Given the description of an element on the screen output the (x, y) to click on. 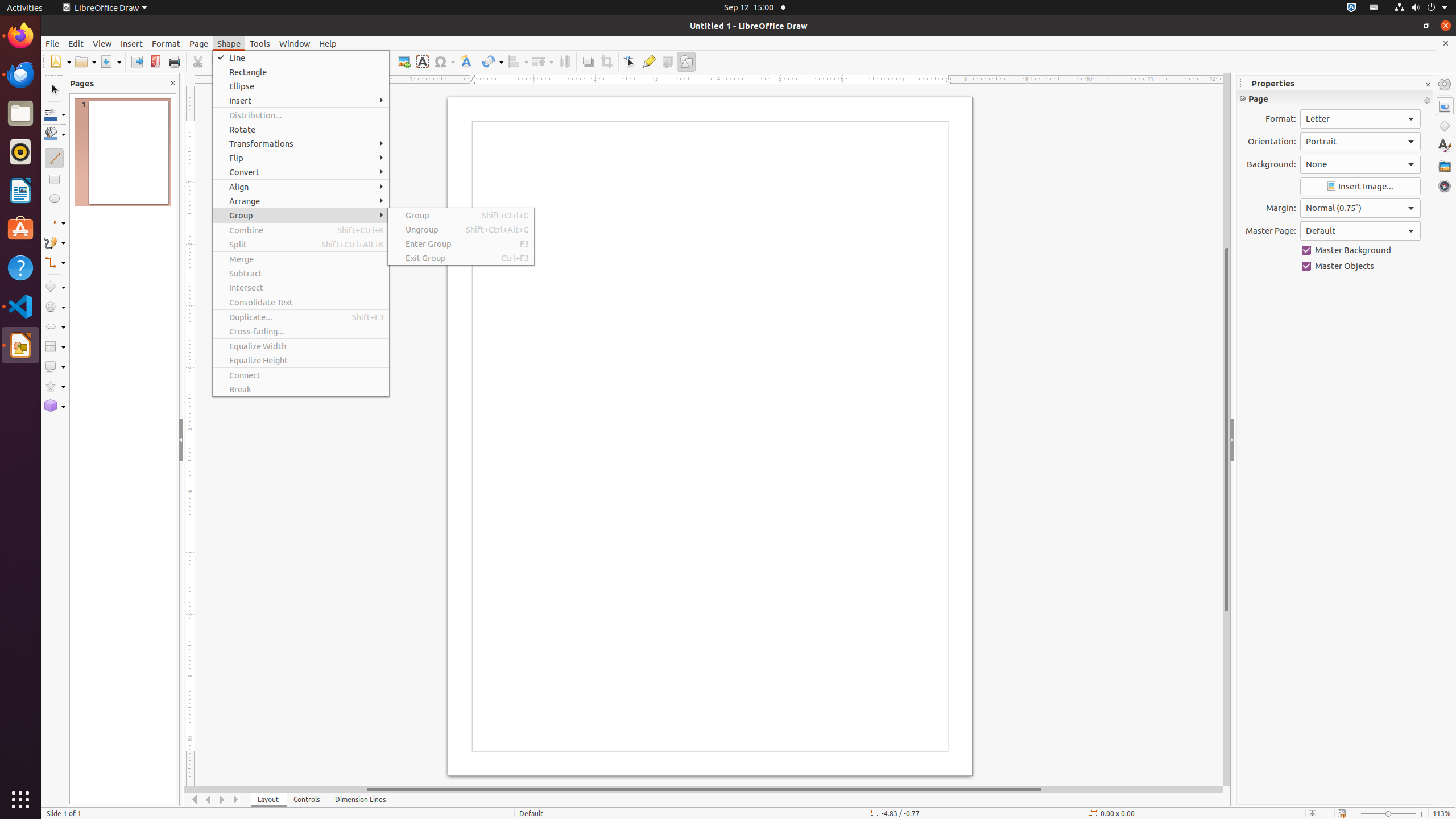
Toggle Extrusion Element type: push-button (667, 61)
Insert Image Element type: push-button (1360, 186)
Rectangle Element type: check-menu-item (300, 71)
Show Applications Element type: toggle-button (20, 799)
Distribution... Element type: menu-item (300, 115)
